Given the description of an element on the screen output the (x, y) to click on. 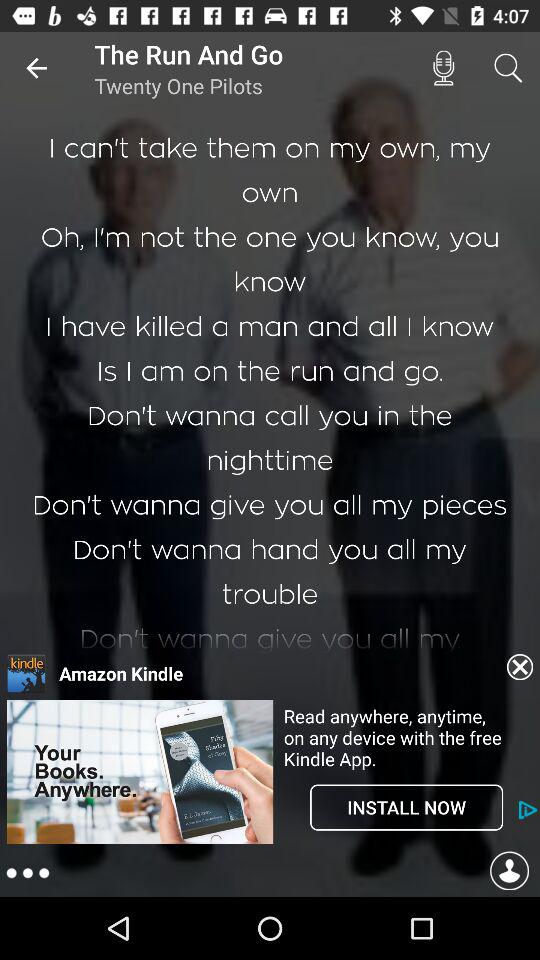
clear botton (520, 667)
